Given the description of an element on the screen output the (x, y) to click on. 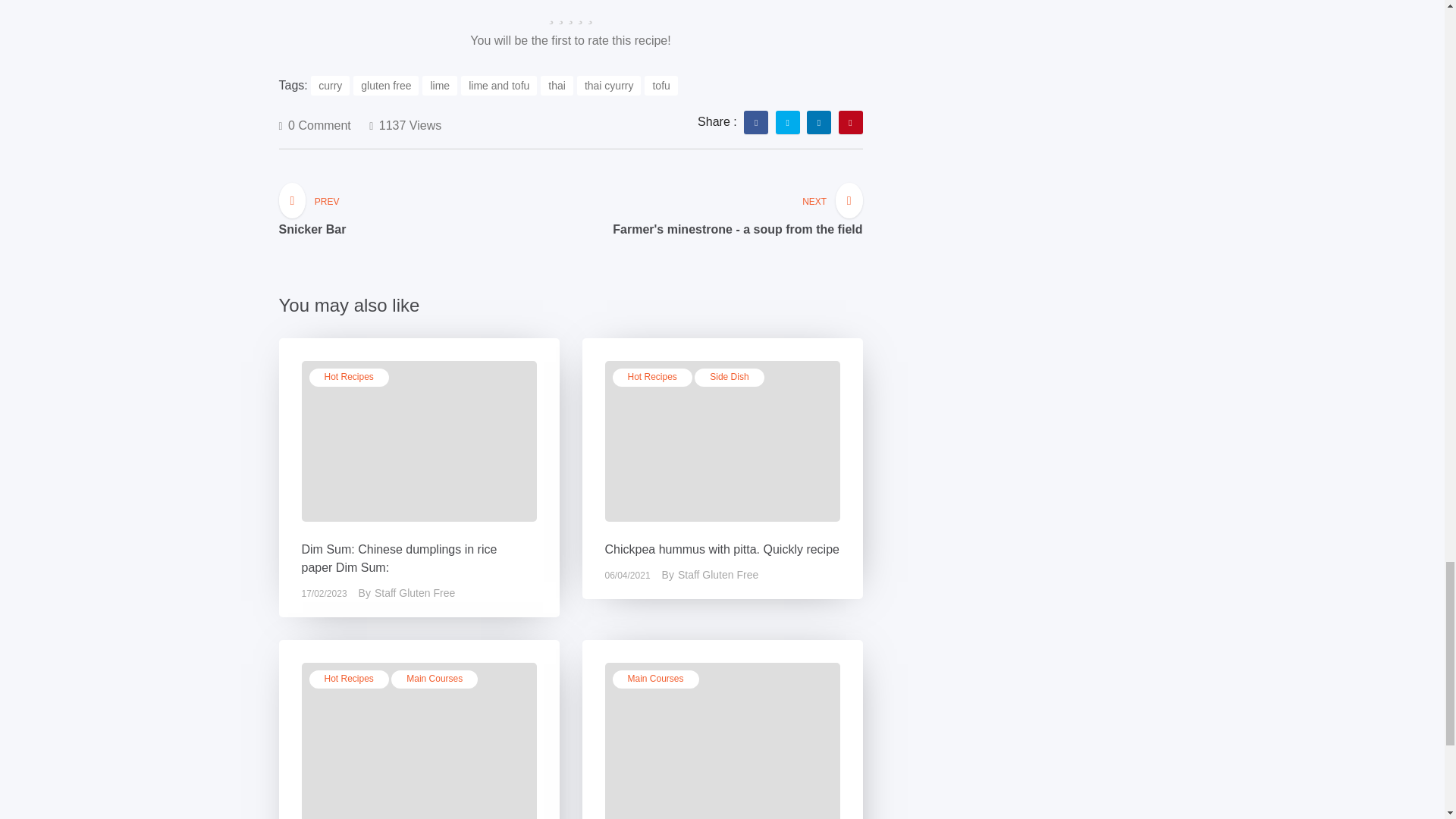
gluten free (386, 85)
next post (736, 223)
lime and tofu (499, 85)
Staff Gluten Free (425, 592)
thai cyurry (609, 85)
tofu (661, 85)
lime (439, 85)
curry (330, 85)
Chickpea hummus with pitta. Quickly recipe (722, 549)
Hot Recipes (348, 377)
